Given the description of an element on the screen output the (x, y) to click on. 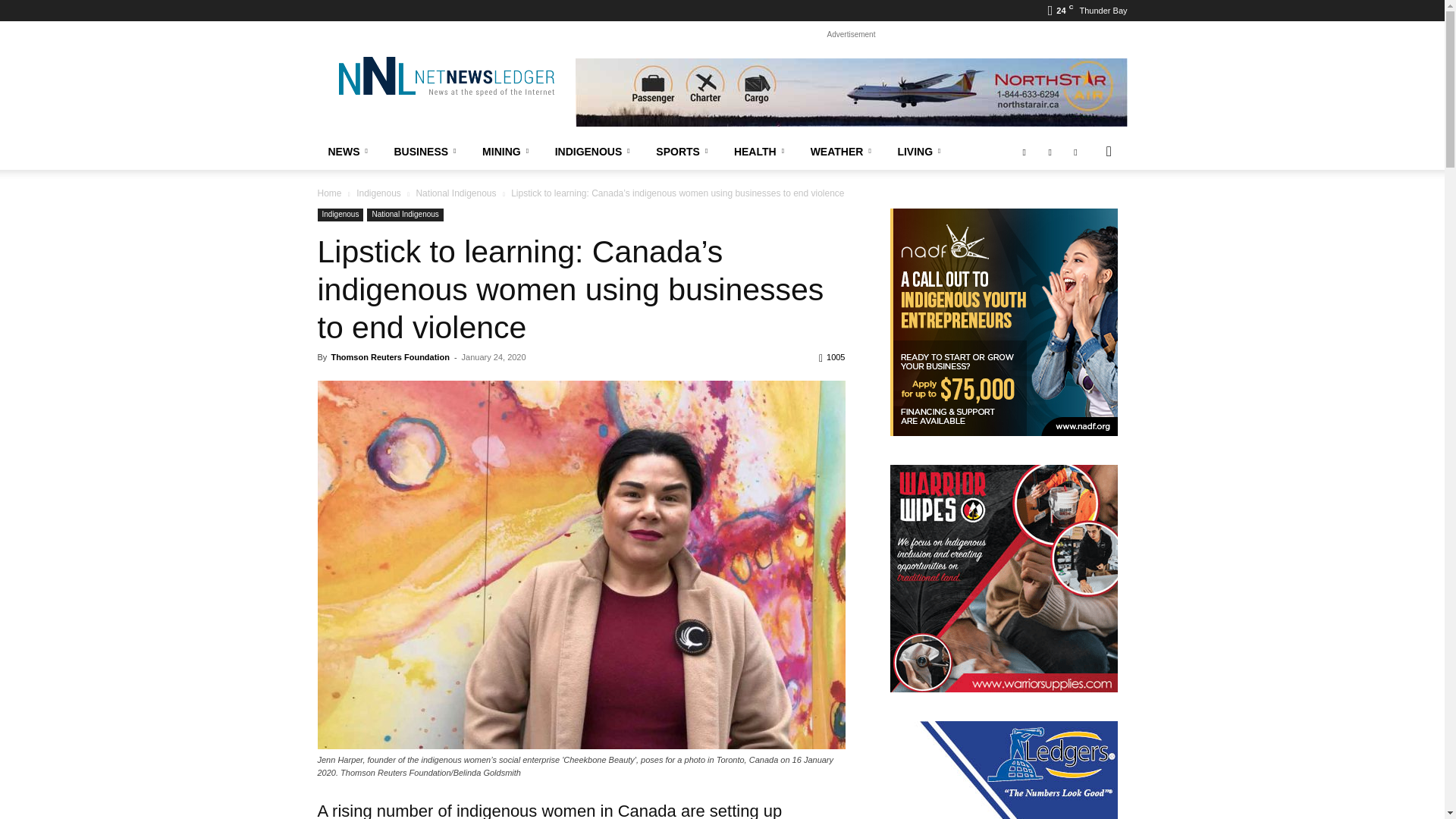
NetNewsLedger (445, 76)
North Star Air (850, 92)
Twitter (1050, 151)
View all posts in Indigenous (378, 193)
View all posts in National Indigenous (455, 193)
Youtube (1075, 151)
Facebook (1024, 151)
